Given the description of an element on the screen output the (x, y) to click on. 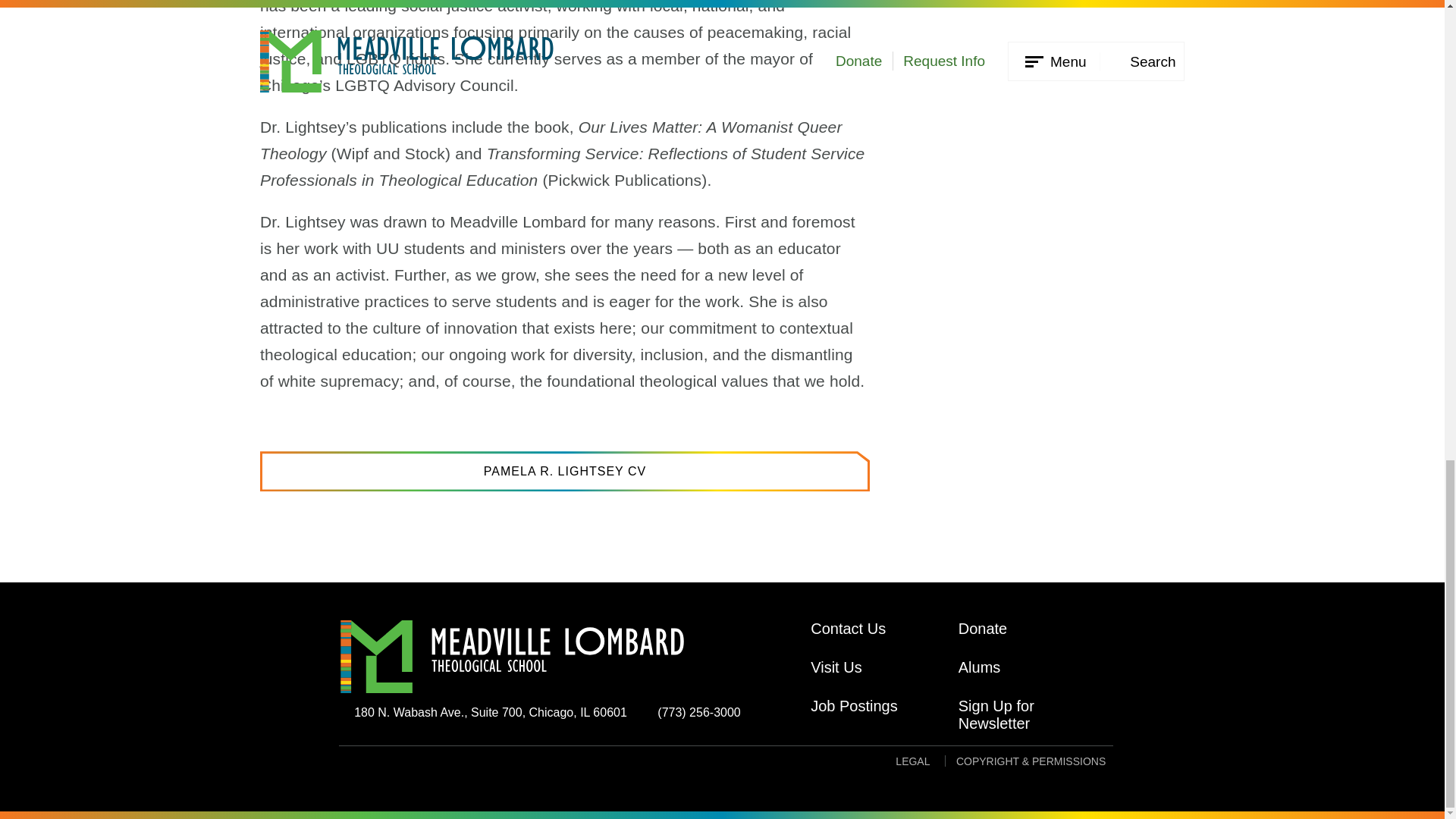
Meadville Lombard Theological School (565, 655)
PAMELA R. LIGHTSEY CV (564, 471)
Job Postings (884, 705)
180 N. Wabash Ave., Suite 700, Chicago, IL 60601 (483, 712)
Alums (1032, 678)
Donate (1032, 639)
Contact Us (884, 639)
Visit Us (884, 678)
